Given the description of an element on the screen output the (x, y) to click on. 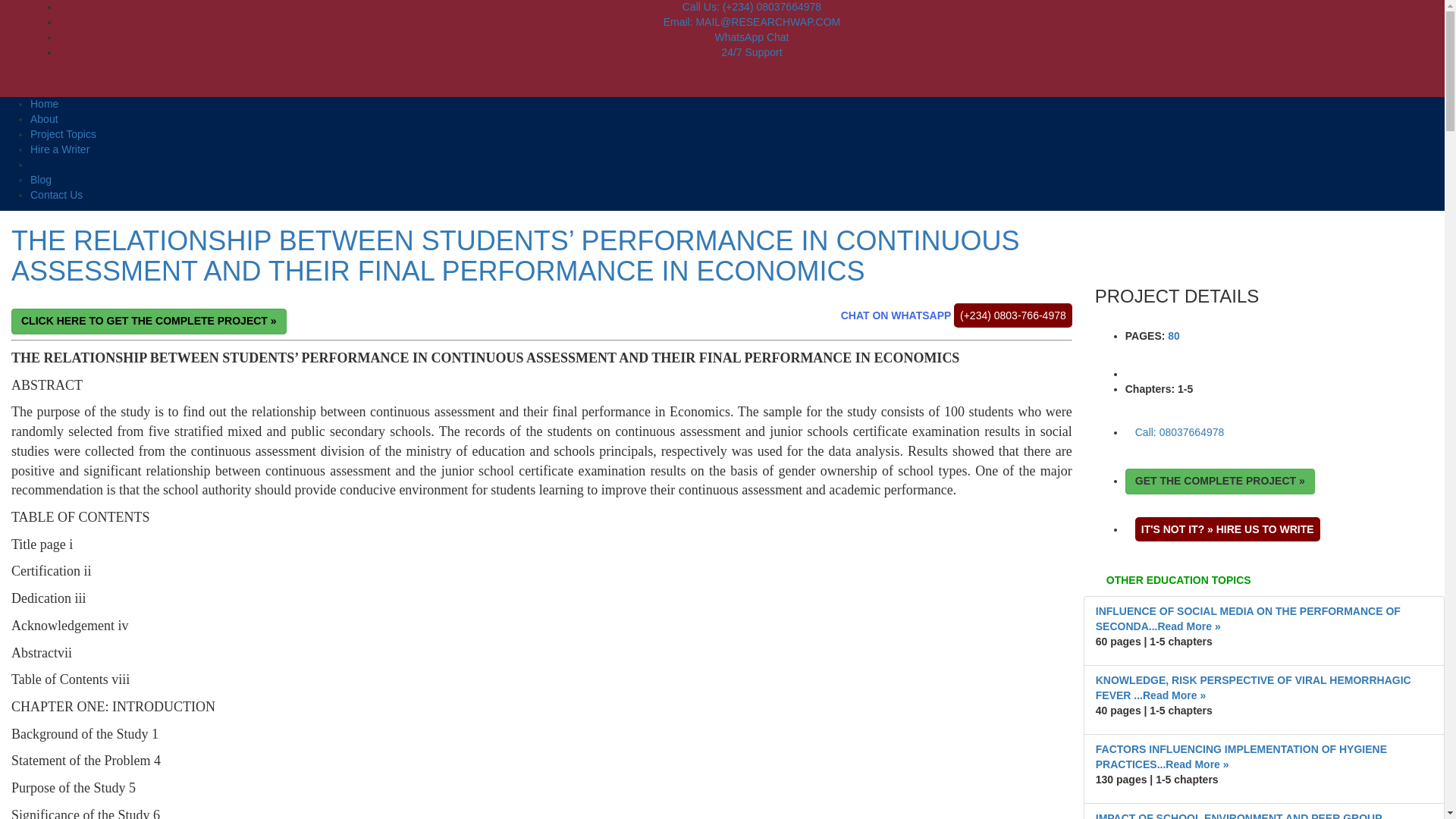
Blog (40, 179)
WhatsApp Chat (751, 37)
Call: 08037664978 (1179, 432)
Home (44, 103)
Contact Us (56, 194)
Project Topics (63, 133)
OTHER EDUCATION TOPICS (1263, 580)
80 (1173, 336)
About (44, 119)
Hire a Writer (59, 149)
